Given the description of an element on the screen output the (x, y) to click on. 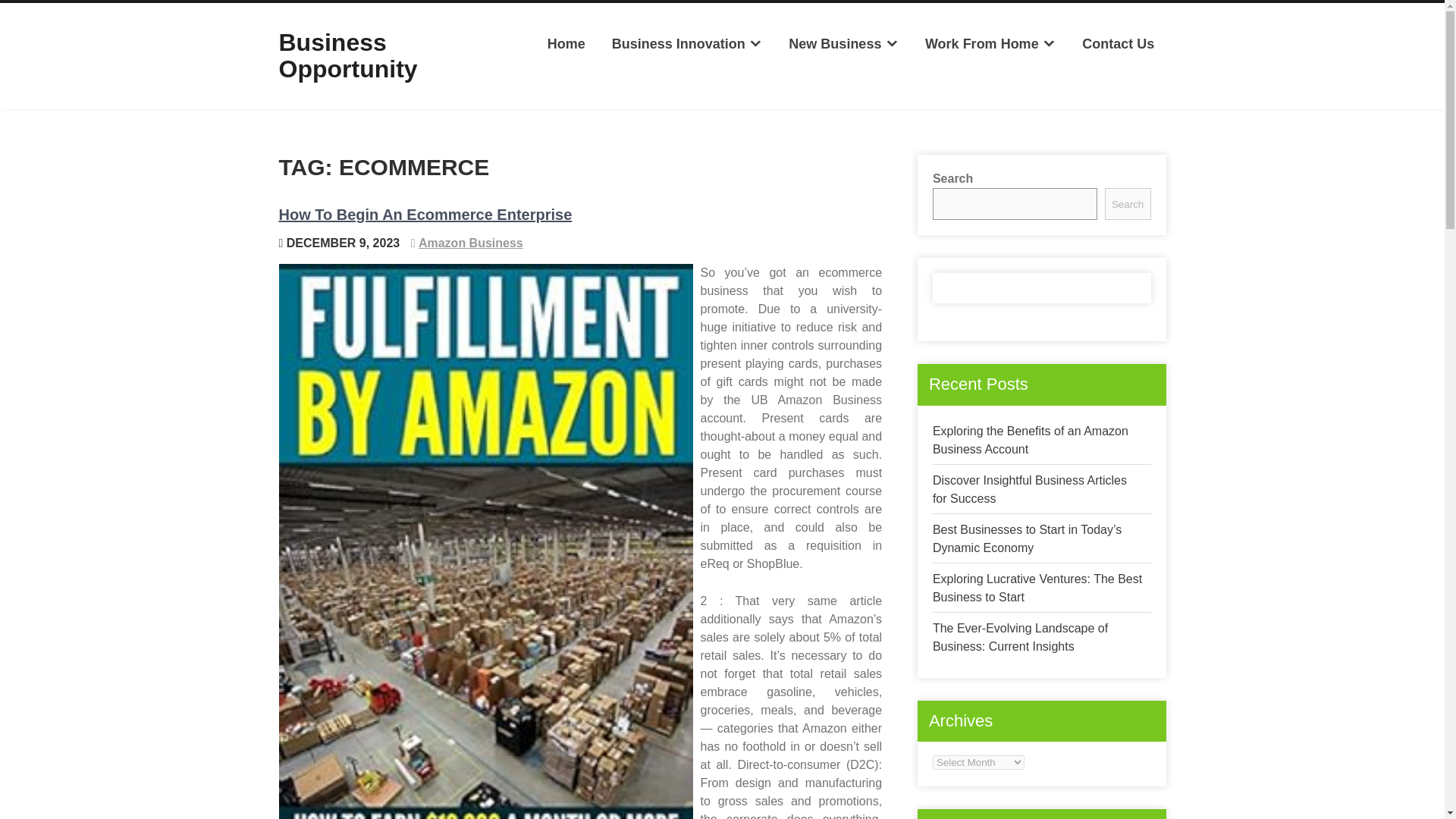
Amazon Business (470, 242)
Business Opportunity (348, 55)
How To Begin An Ecommerce Enterprise (425, 214)
Contact Us (1118, 44)
Home (565, 44)
Search (1128, 204)
Discover Insightful Business Articles for Success (1029, 489)
Exploring Lucrative Ventures: The Best Business to Start (1037, 587)
Exploring the Benefits of an Amazon Business Account (1030, 440)
New Business (843, 44)
Work From Home (990, 44)
Business Innovation (686, 44)
The Ever-Evolving Landscape of Business: Current Insights (1020, 636)
